Given the description of an element on the screen output the (x, y) to click on. 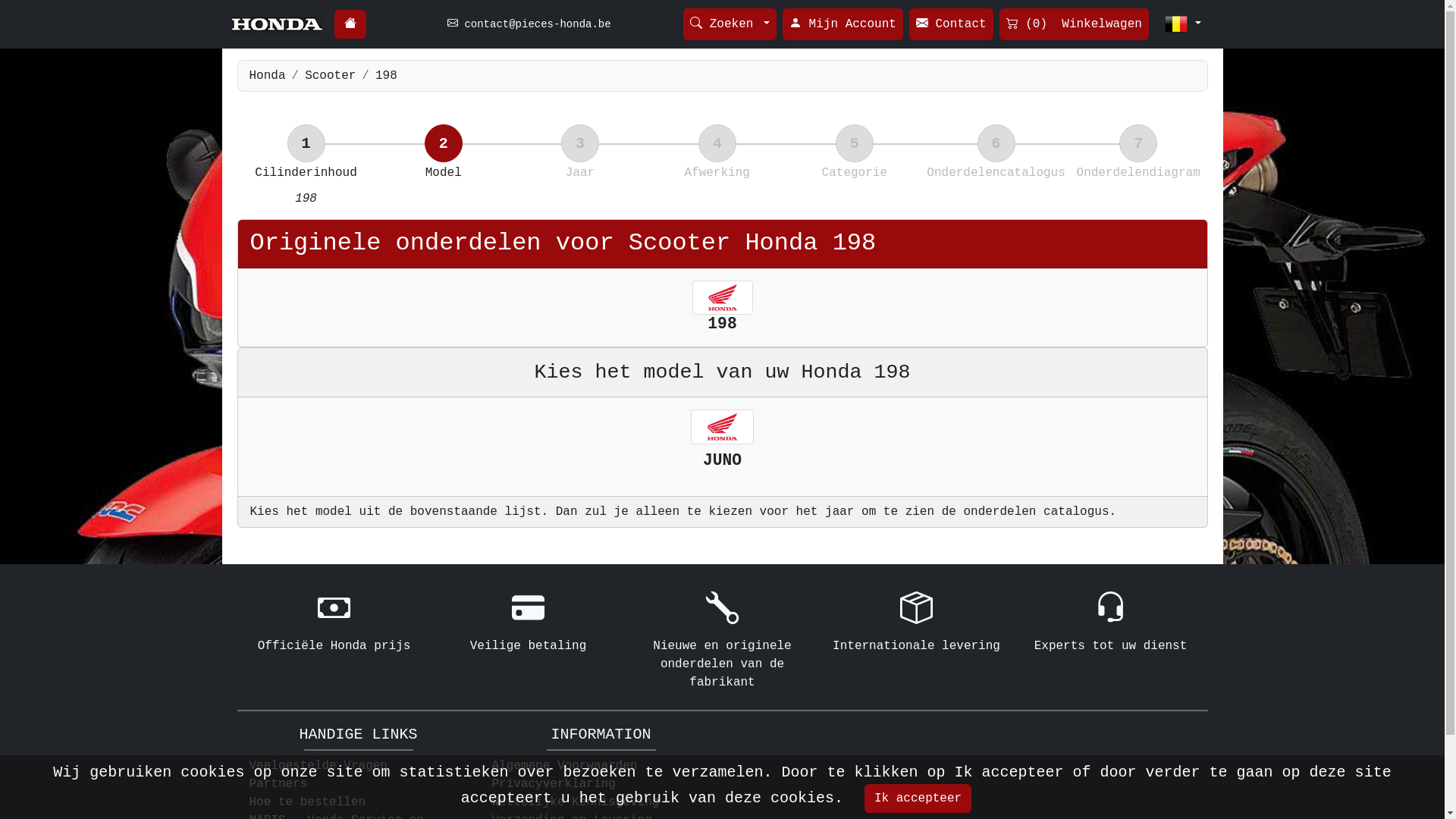
3
Jaar Element type: text (579, 176)
(0)  Winkelwagen Element type: text (1073, 24)
Honda Element type: text (266, 75)
Algemene Voorwaarden Element type: text (564, 765)
Contact Element type: text (951, 24)
4
Afwerking Element type: text (716, 176)
7
Onderdelendiagram Element type: text (1138, 176)
Wettelijke Kennisgeving Element type: text (574, 802)
1 Element type: text (306, 143)
4 Element type: text (717, 143)
6 Element type: text (996, 143)
5 Element type: text (854, 143)
Scooter Element type: text (329, 75)
2
Model Element type: text (443, 176)
6
Onderdelencatalogus Element type: text (995, 176)
Zoeken Element type: text (729, 24)
7 Element type: text (1138, 143)
Ik accepteer Element type: text (917, 798)
JUNO Element type: text (722, 449)
3 Element type: text (580, 143)
Partners Element type: text (277, 783)
Hoe te bestellen Element type: text (306, 802)
2 Element type: text (443, 143)
Mijn Account Element type: text (842, 24)
Privacyverklaring Element type: text (553, 783)
5
Categorie Element type: text (853, 176)
1
Cilinderinhoud
198 Element type: text (305, 185)
198 Element type: text (386, 75)
Veelgestelde Vragen Element type: text (317, 765)
